Given the description of an element on the screen output the (x, y) to click on. 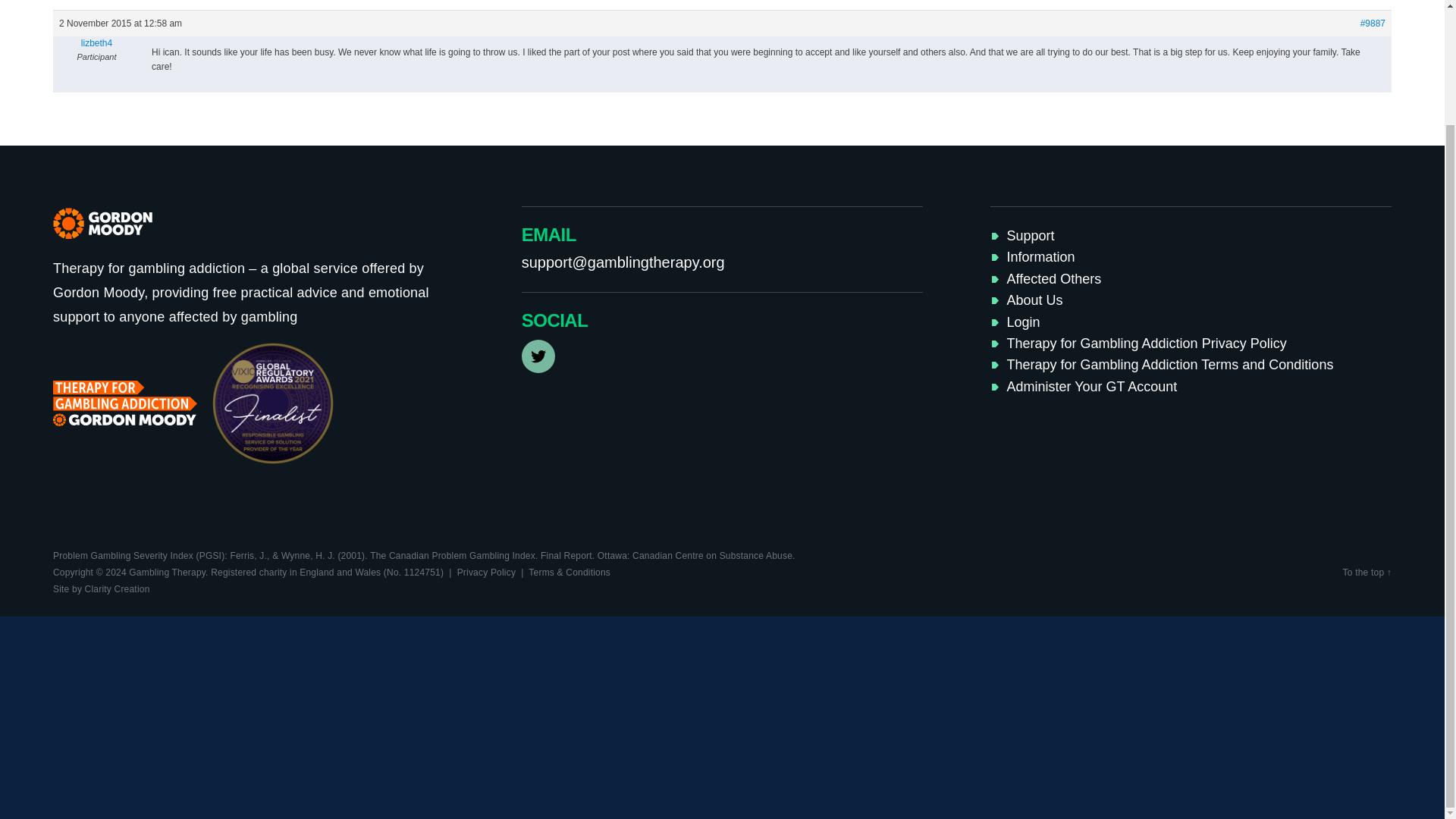
View lizbeth4's profile (95, 42)
Visit the Clarity Creation website (100, 588)
